Given the description of an element on the screen output the (x, y) to click on. 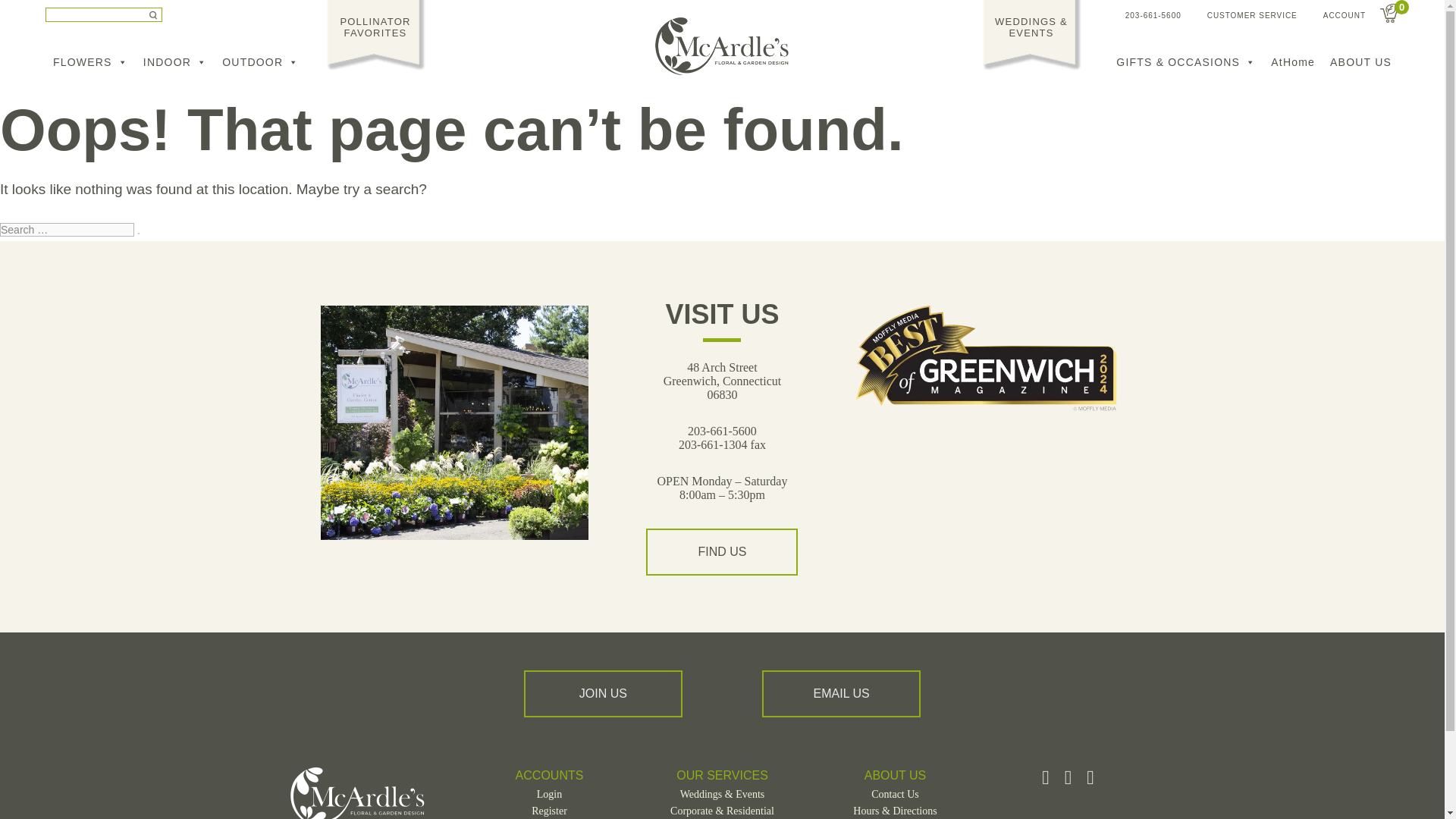
POLLINATOR FAVORITES (374, 26)
OUTDOOR (259, 61)
ACCOUNT (1344, 14)
INDOOR (174, 61)
203-661-5600 (1152, 14)
CUSTOMER SERVICE (1252, 14)
View your Shopping Cart (1388, 13)
FLOWERS (90, 61)
0 (1388, 13)
